Given the description of an element on the screen output the (x, y) to click on. 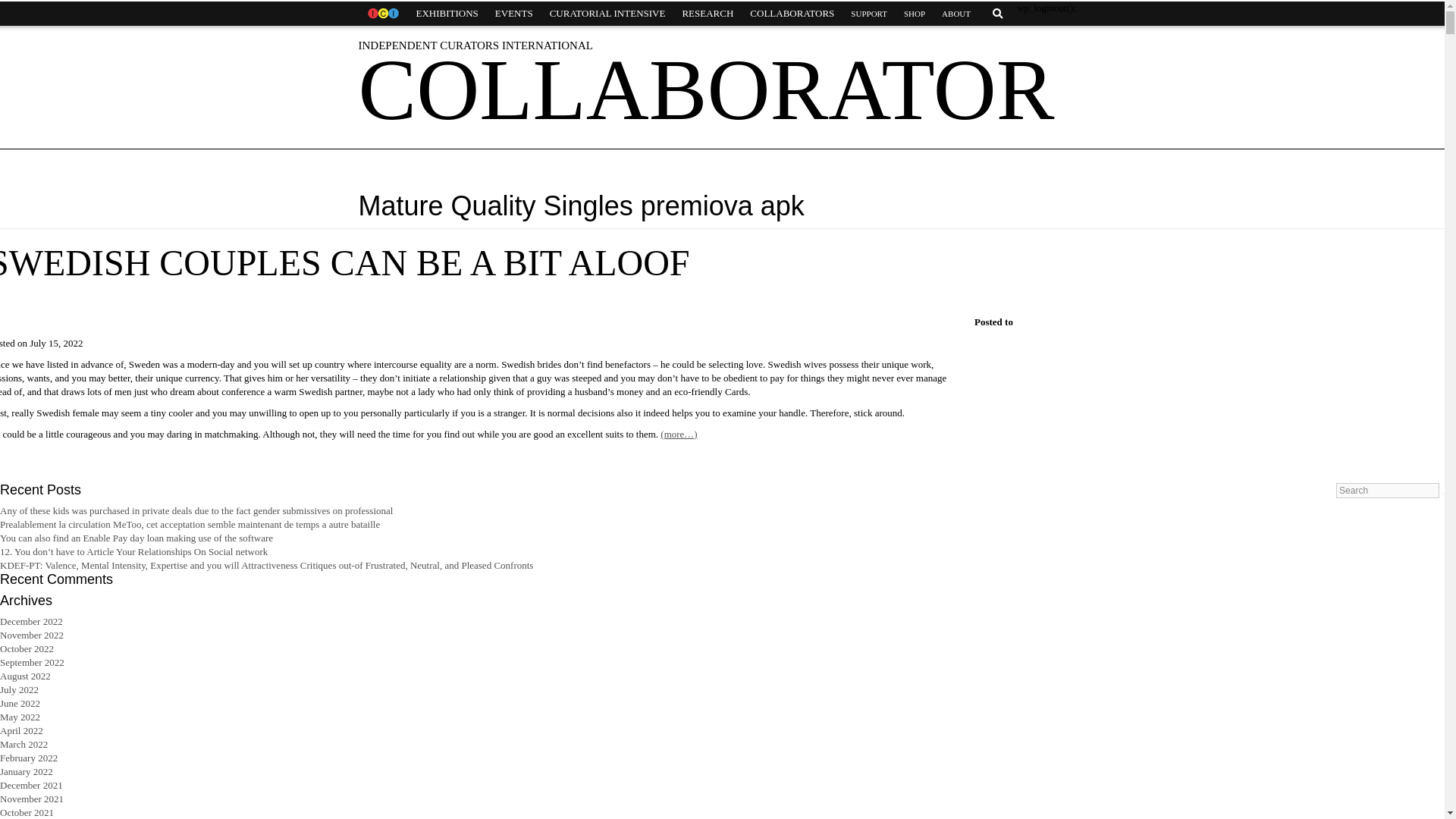
EXHIBITIONS (446, 13)
EVENTS (513, 13)
HOME (382, 13)
RESEARCH (706, 13)
COLLABORATORS (792, 13)
CURATORIAL INTENSIVE (607, 13)
